Given the description of an element on the screen output the (x, y) to click on. 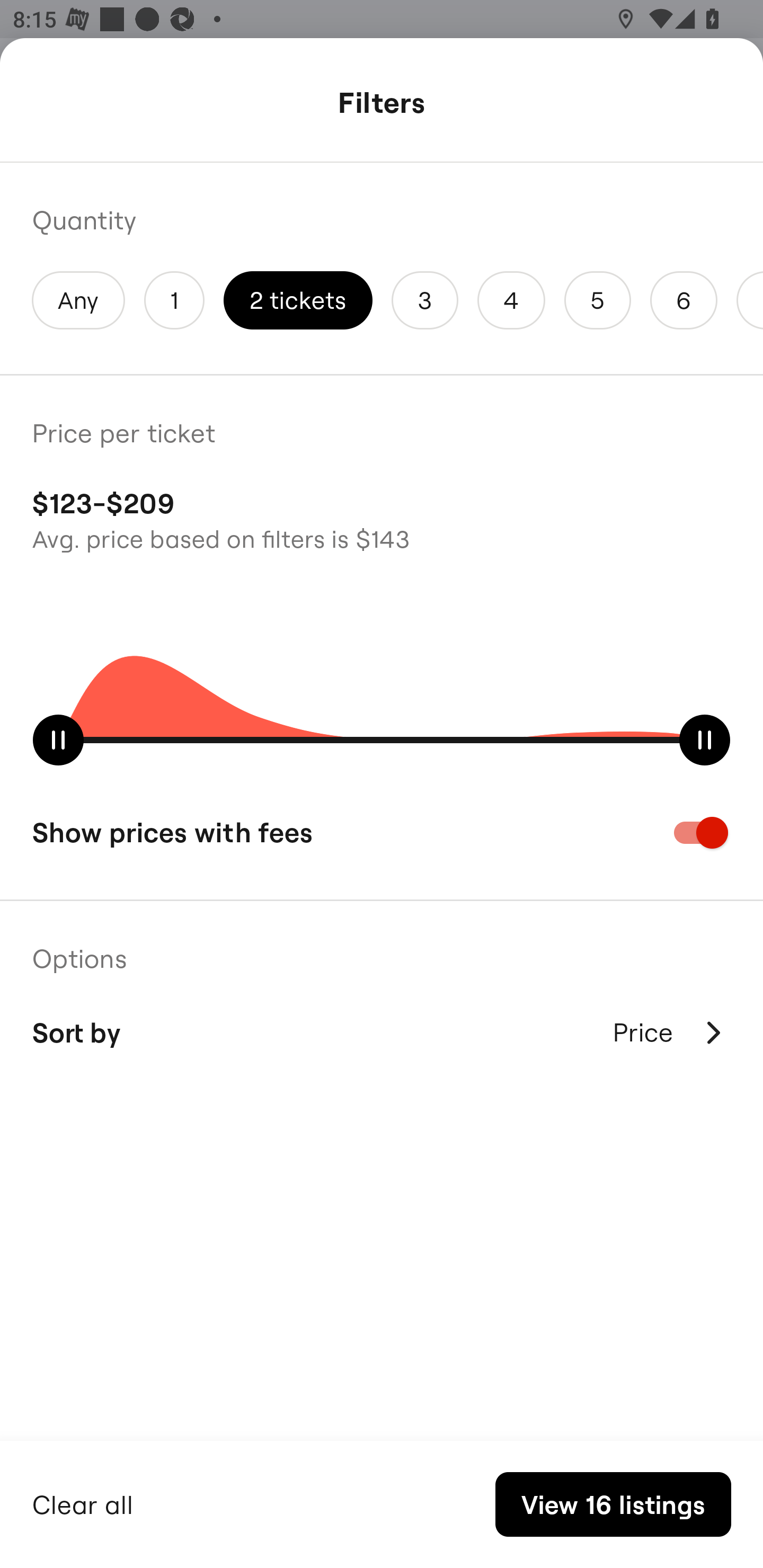
Back Matt Rife Wed, Mar 20, 7 PM Info (381, 104)
Any (78, 300)
1 (173, 300)
2 tickets (297, 300)
3 (424, 300)
4 (511, 300)
5 (597, 300)
6 (684, 300)
$123-$209 Avg. price based on filters is $143 (381, 518)
Show prices with fees (381, 832)
Sort by Price (381, 1032)
Clear all (83, 1502)
View 16 listings (612, 1504)
